Given the description of an element on the screen output the (x, y) to click on. 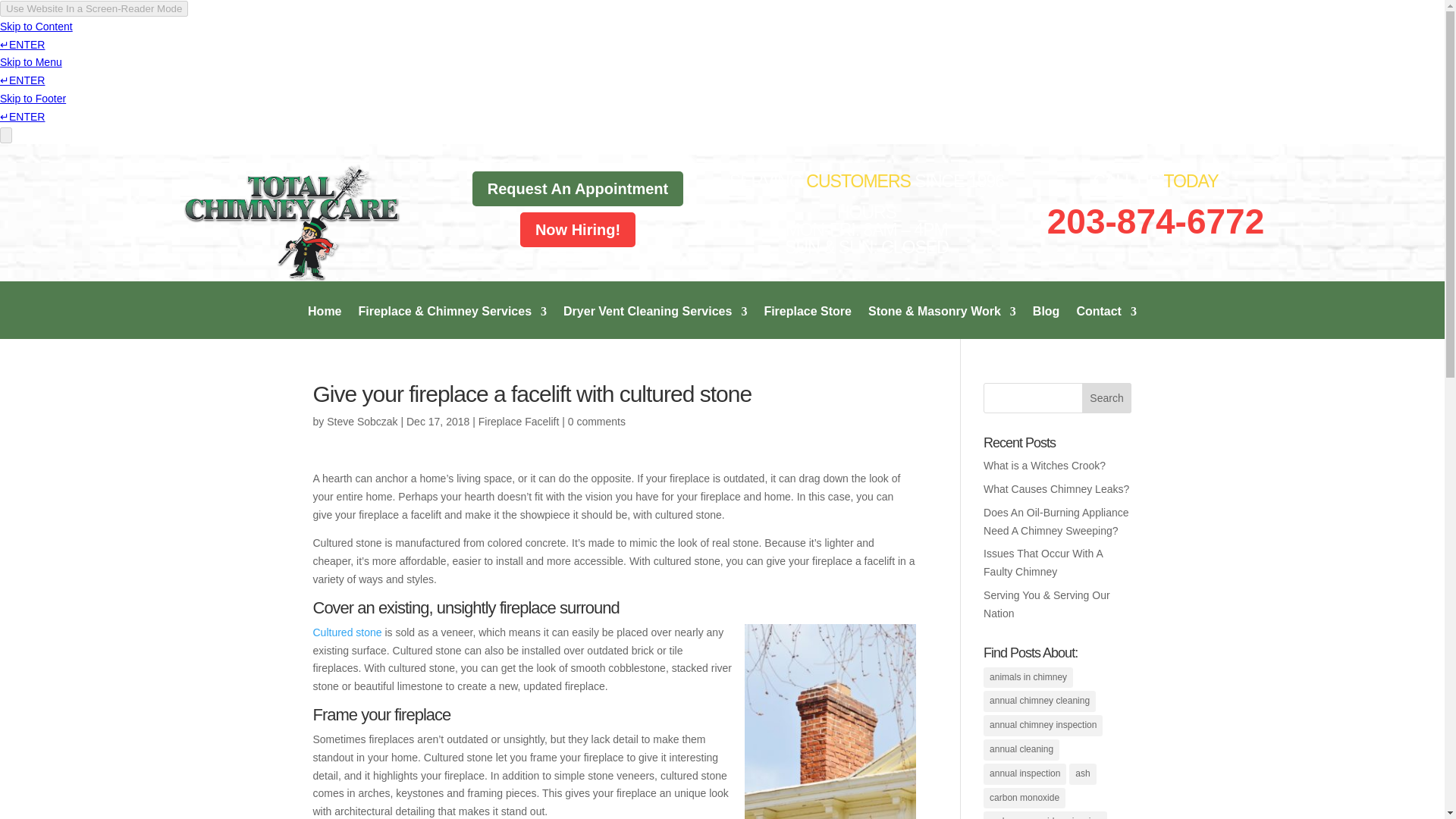
Call Us Today (1154, 220)
Total Chimney Care - Logo (287, 222)
Contact (1106, 322)
Now Hiring! (577, 229)
Search (1106, 398)
Home (323, 322)
Fireplace Store (806, 322)
Dryer Vent Cleaning Services (654, 322)
203-874-6772 (1154, 220)
Request An Appointment (577, 188)
Posts by Steve Sobczak (361, 421)
